Given the description of an element on the screen output the (x, y) to click on. 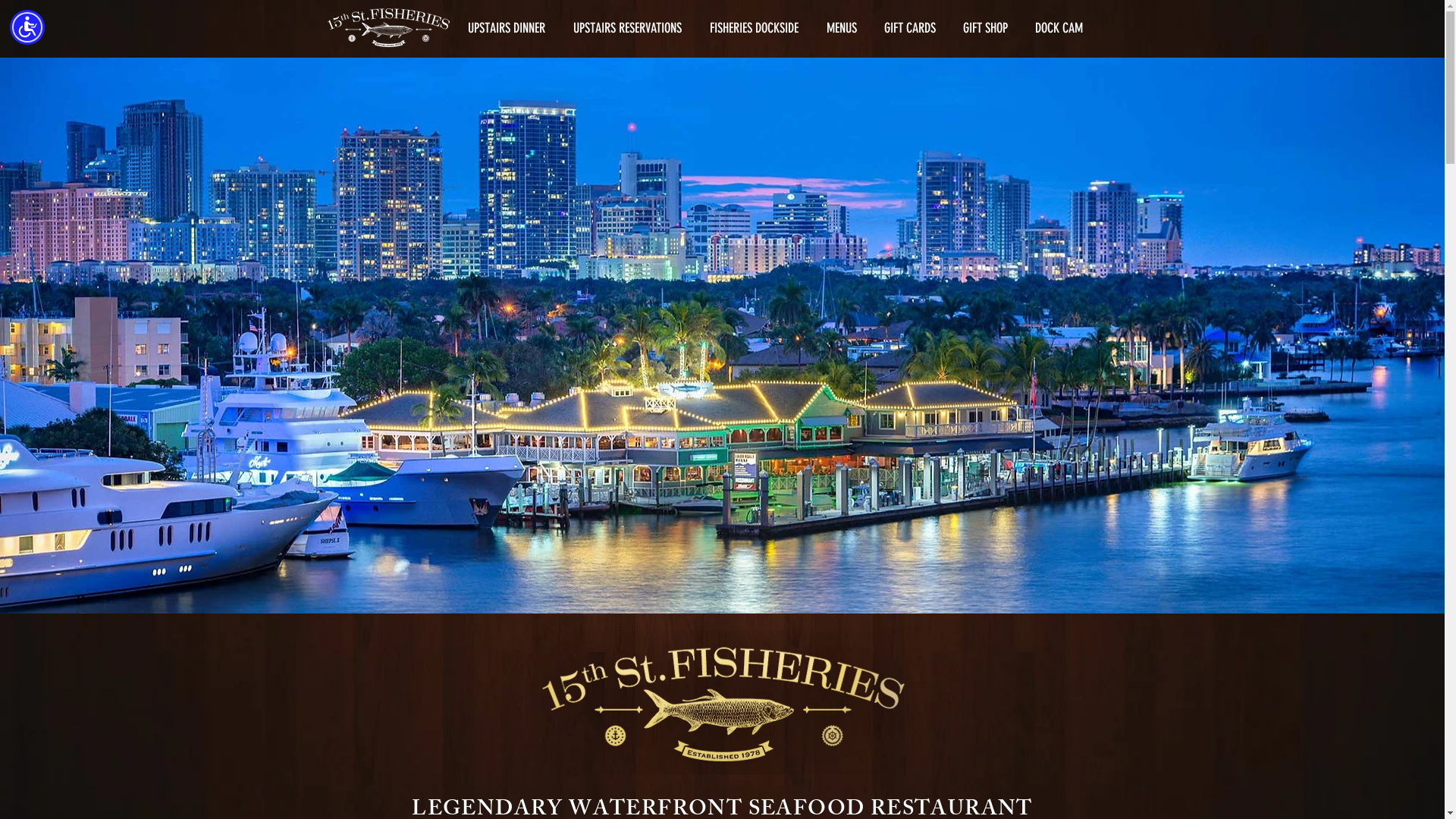
UPSTAIRS DINNER Element type: text (505, 28)
GIFT SHOP Element type: text (985, 28)
UPSTAIRS RESERVATIONS Element type: text (627, 28)
MENUS Element type: text (841, 28)
FISHERIES DOCKSIDE Element type: text (754, 28)
DOCK CAM Element type: text (1057, 28)
GIFT CARDS Element type: text (909, 28)
Click Logo To Go Home Element type: hover (388, 28)
